Given the description of an element on the screen output the (x, y) to click on. 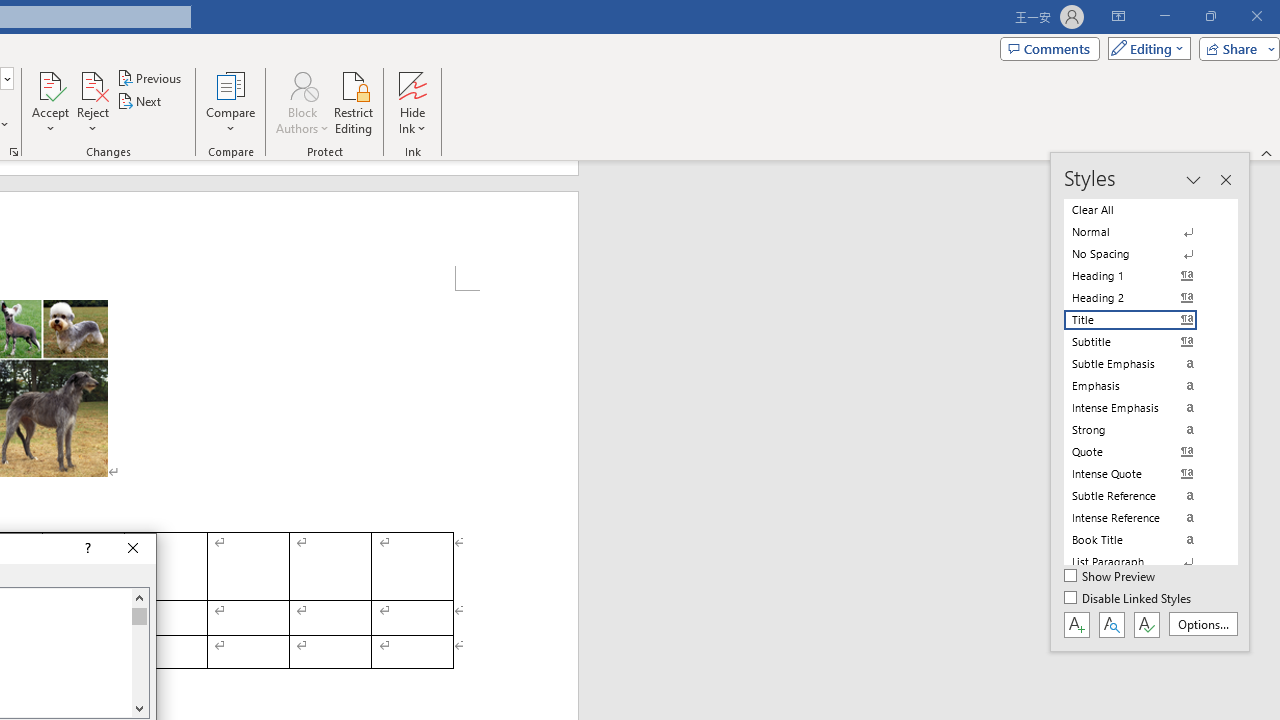
Intense Reference (1142, 517)
Previous (150, 78)
Hide Ink (412, 102)
Page down (139, 661)
AutomationID: 21 (139, 652)
Context help (86, 548)
Normal (1142, 232)
Class: NetUIButton (1146, 624)
Compare (230, 102)
Reject and Move to Next (92, 84)
